Given the description of an element on the screen output the (x, y) to click on. 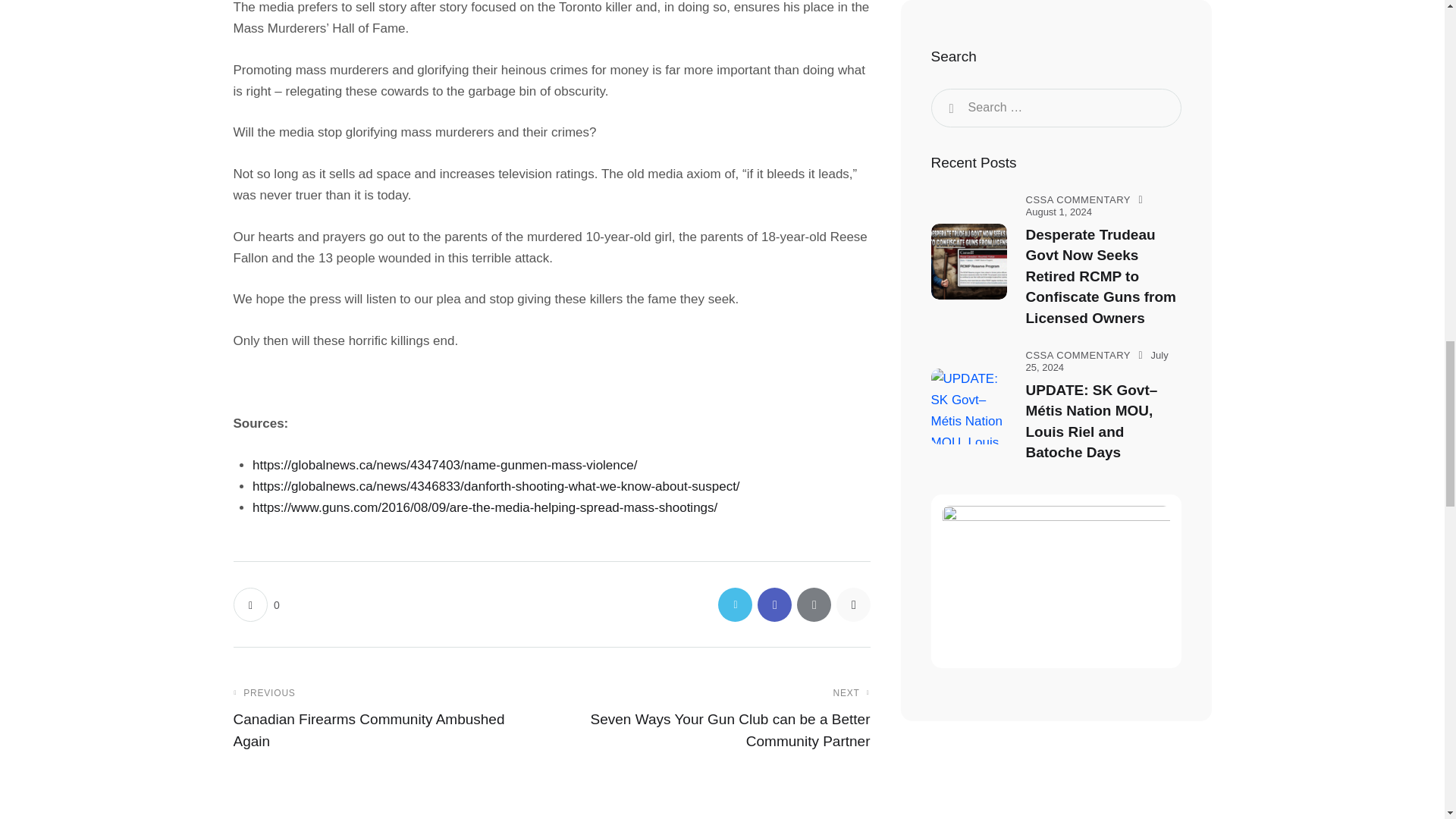
Like (255, 604)
Copy URL to clipboard (852, 604)
